Given the description of an element on the screen output the (x, y) to click on. 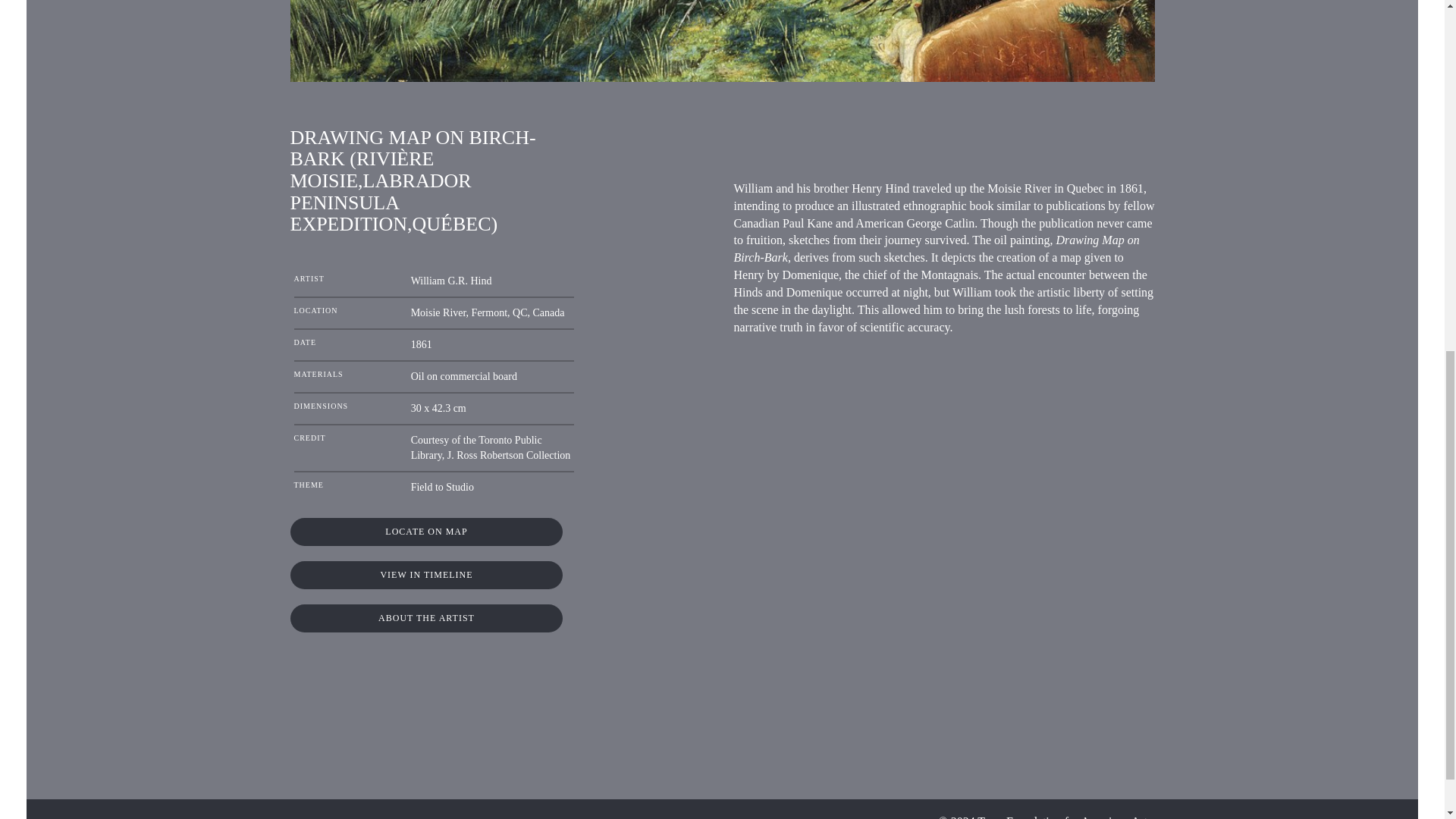
VIEW IN TIMELINE (425, 574)
ABOUT THE ARTIST (425, 618)
Field to Studio (442, 487)
William G.R. Hind (451, 280)
LOCATE ON MAP (425, 531)
